Given the description of an element on the screen output the (x, y) to click on. 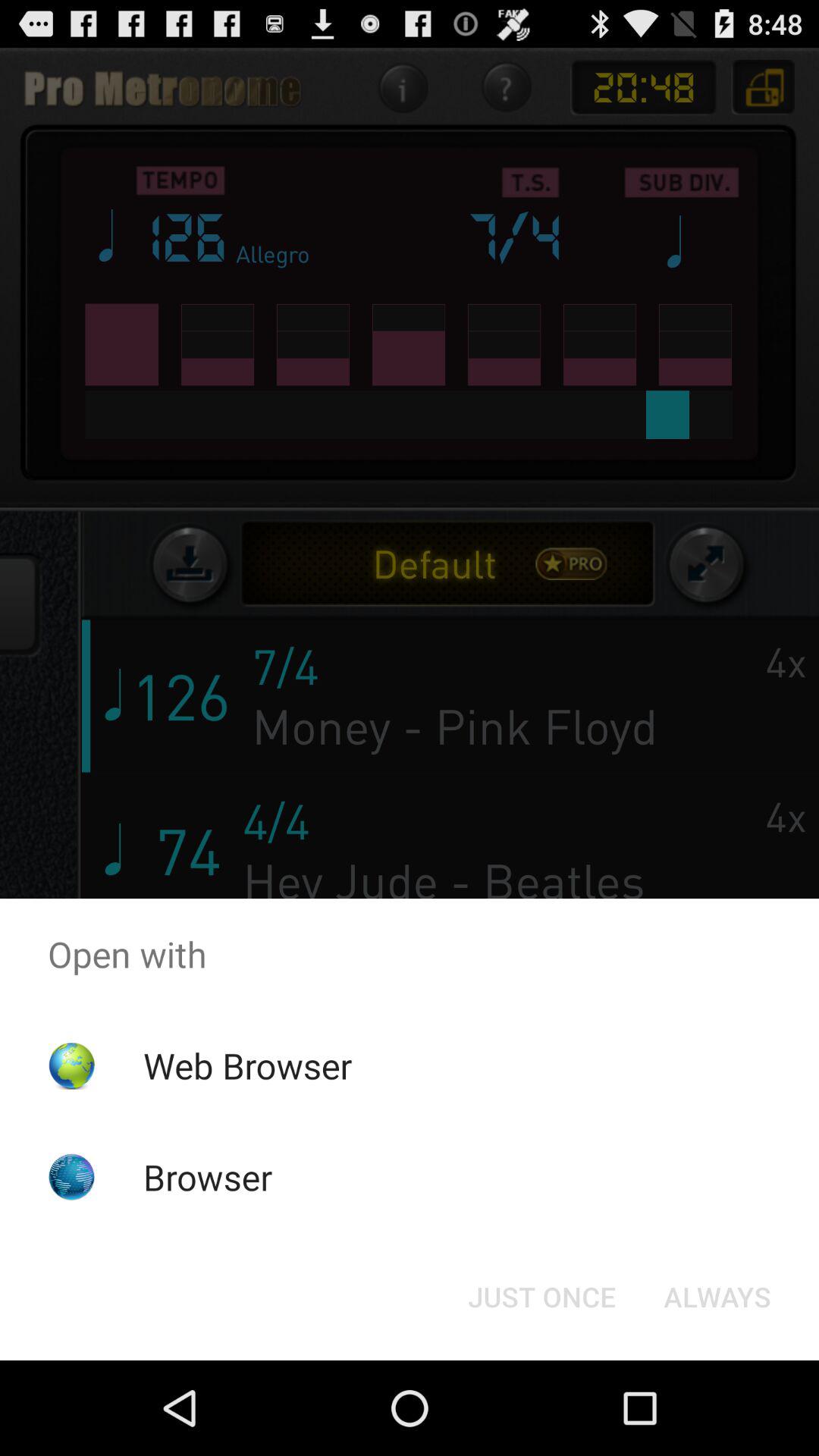
launch the item below the open with app (541, 1296)
